Given the description of an element on the screen output the (x, y) to click on. 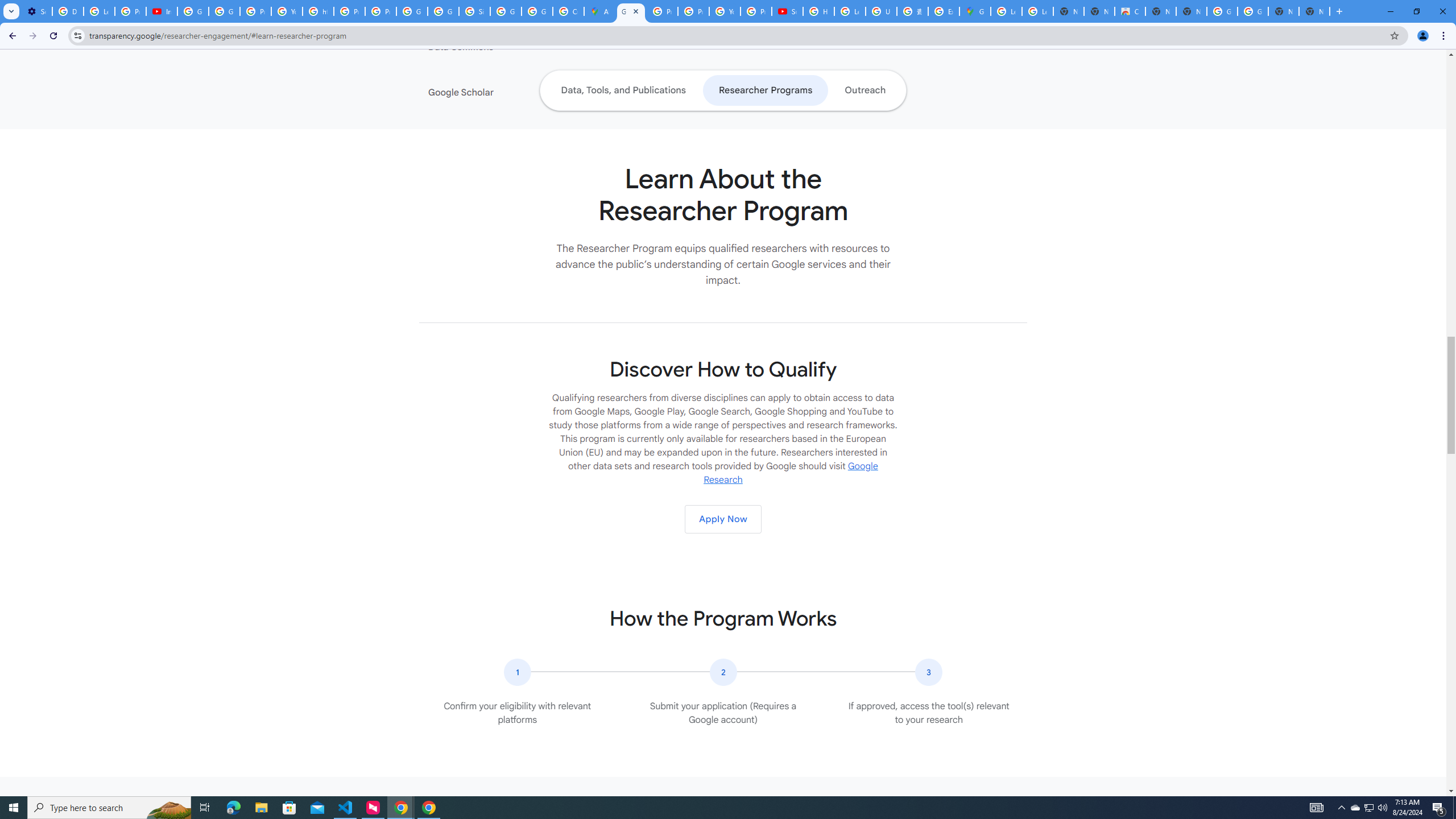
Google Scholar (497, 92)
Explore new street-level details - Google Maps Help (943, 11)
Google Research (790, 472)
Google Researcher Engagement - Transparency Center (631, 11)
Introduction | Google Privacy Policy - YouTube (161, 11)
Settings - Performance (36, 11)
